Given the description of an element on the screen output the (x, y) to click on. 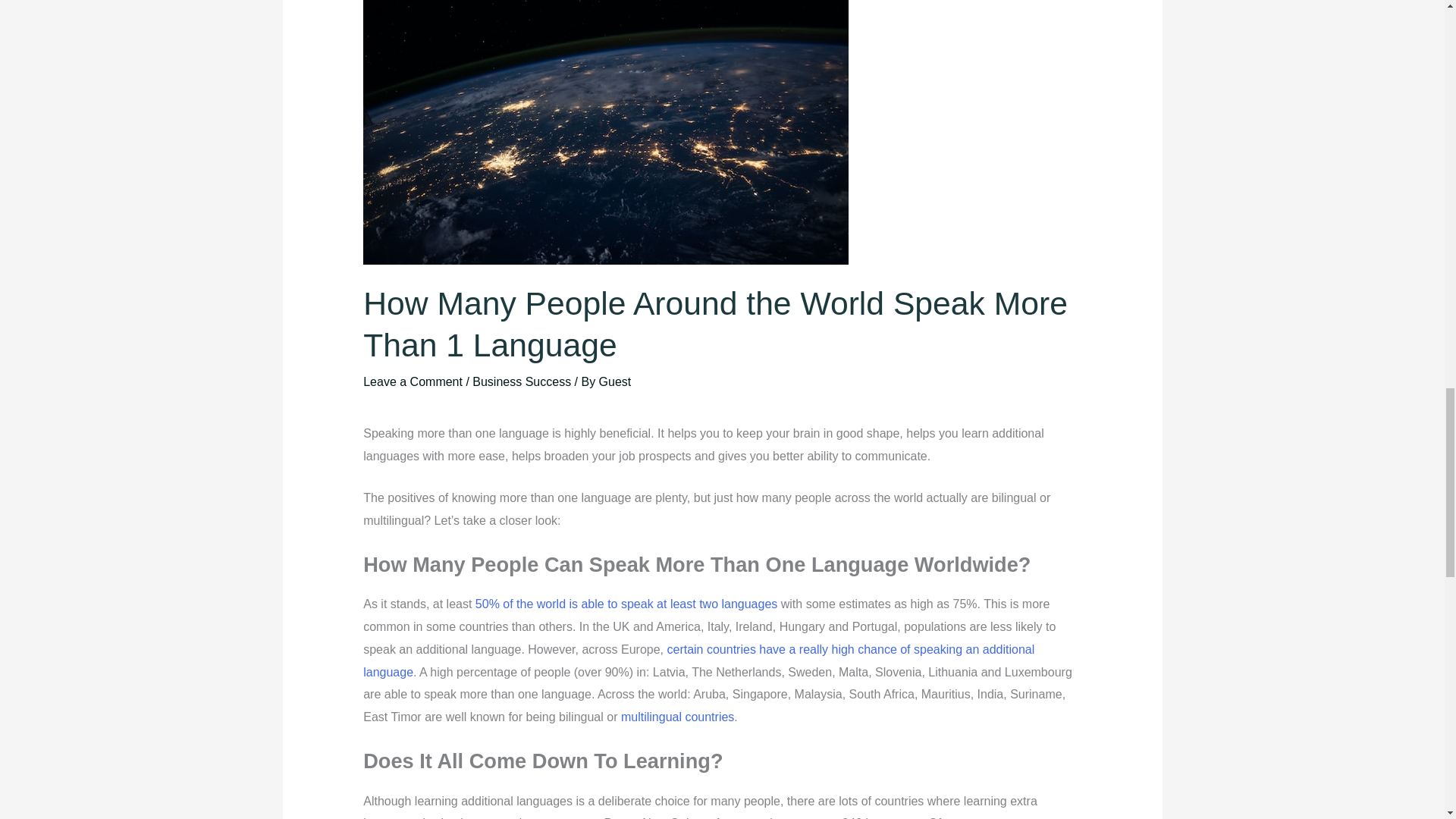
View all posts by Guest (614, 381)
